Given the description of an element on the screen output the (x, y) to click on. 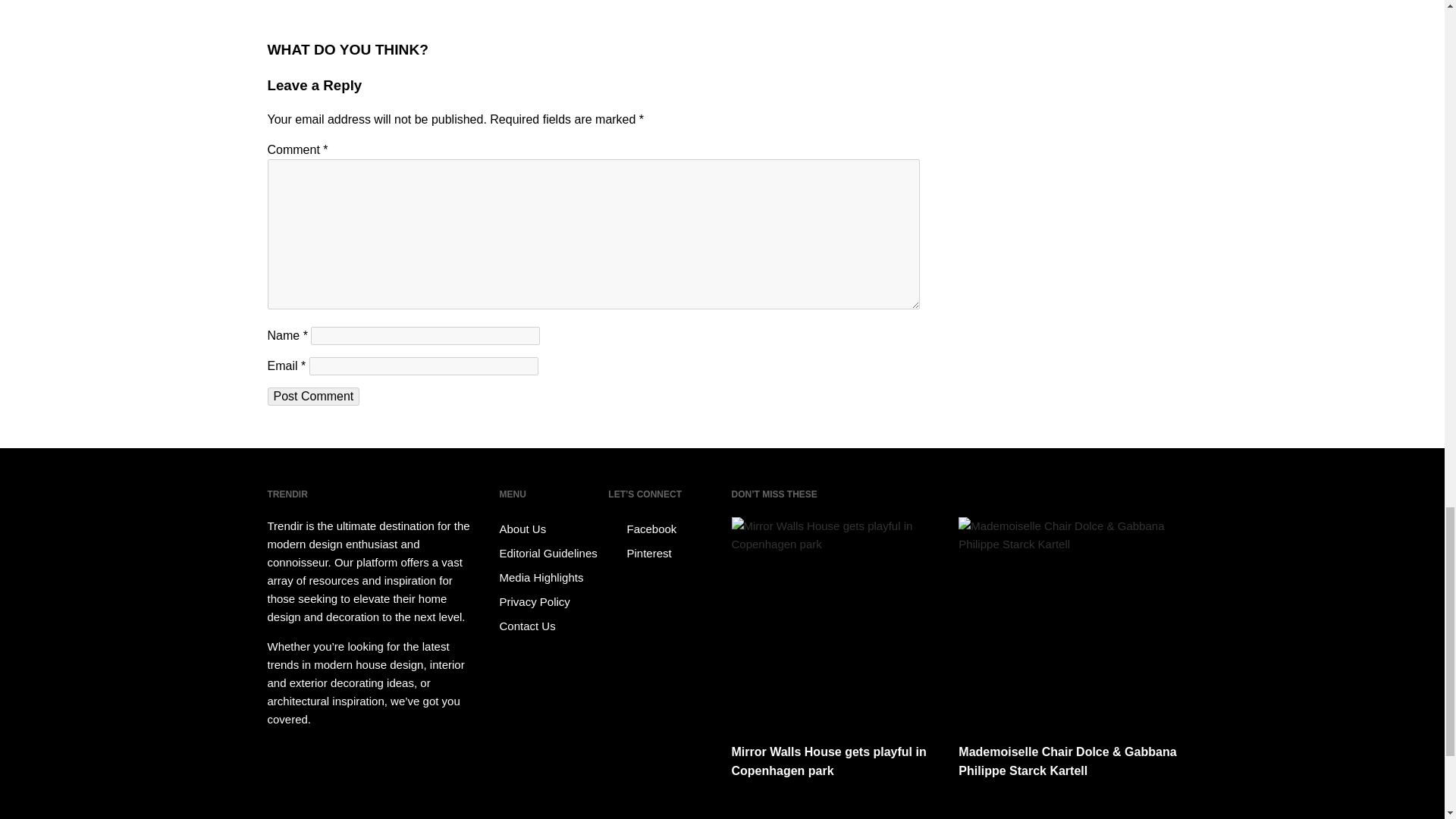
Trendir Editorial Guidelines (551, 553)
Editorial Guidelines (551, 553)
Media Highlights - Trendir (551, 577)
Post Comment (312, 396)
Media Highlights (551, 577)
About Us - Trendir (551, 528)
About Us (551, 528)
Post Comment (312, 396)
